Given the description of an element on the screen output the (x, y) to click on. 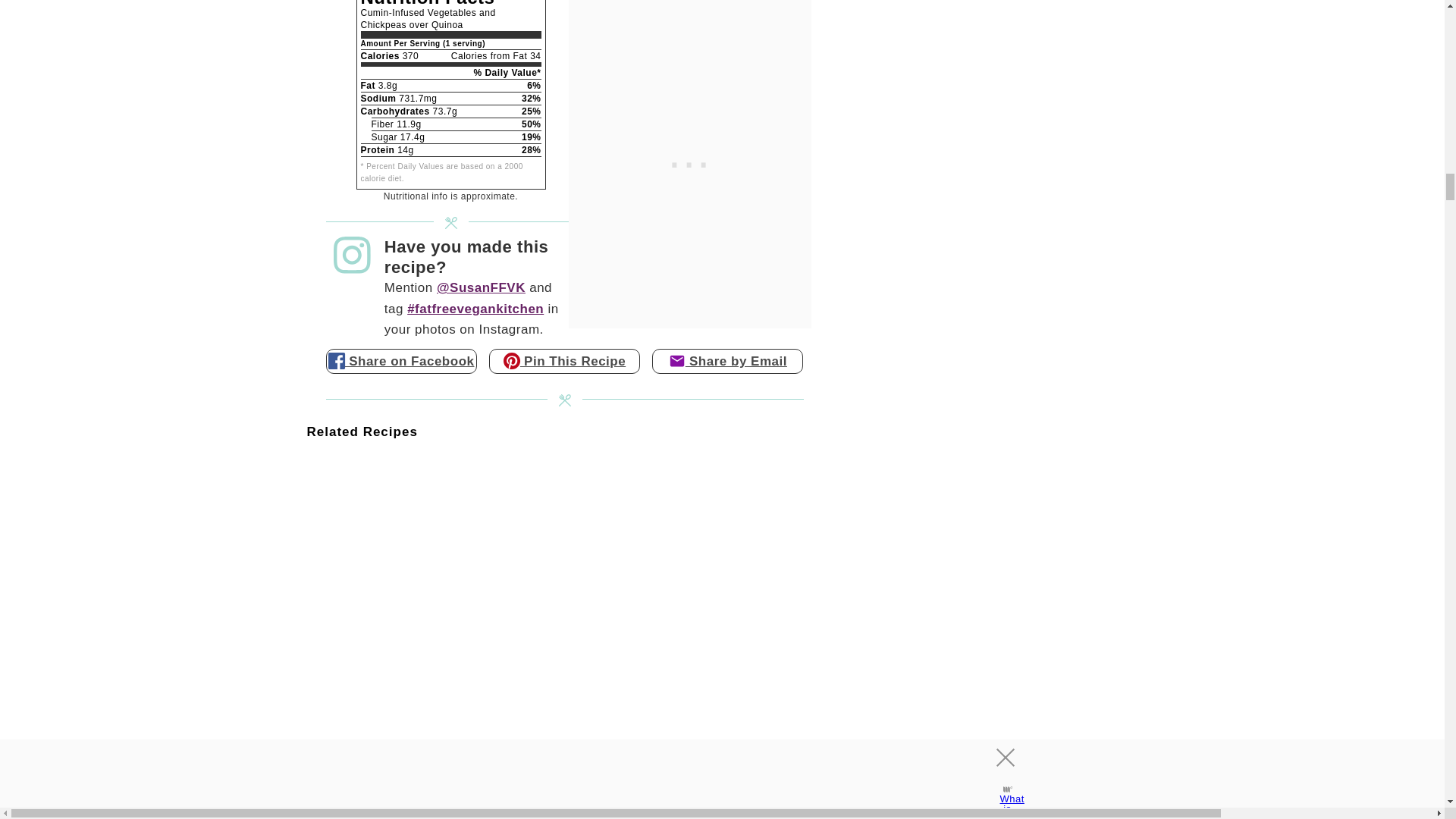
Share by Email (727, 360)
Pin This Recipe (564, 360)
Share on Facebook (401, 360)
